Given the description of an element on the screen output the (x, y) to click on. 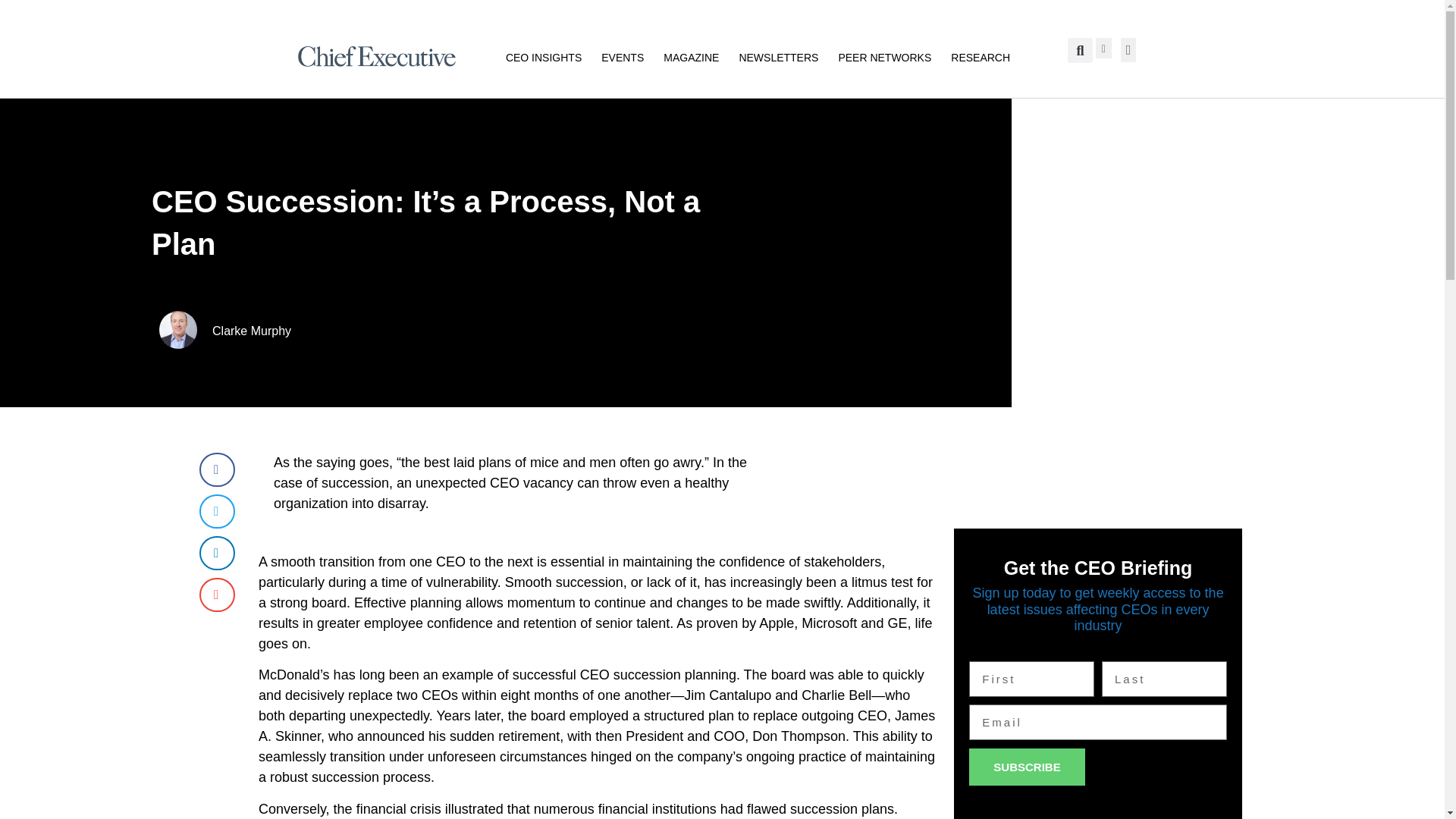
EVENTS (622, 56)
NEWSLETTERS (778, 56)
PEER NETWORKS (884, 56)
CEO INSIGHTS (543, 56)
MAGAZINE (691, 56)
RESEARCH (980, 56)
